Given the description of an element on the screen output the (x, y) to click on. 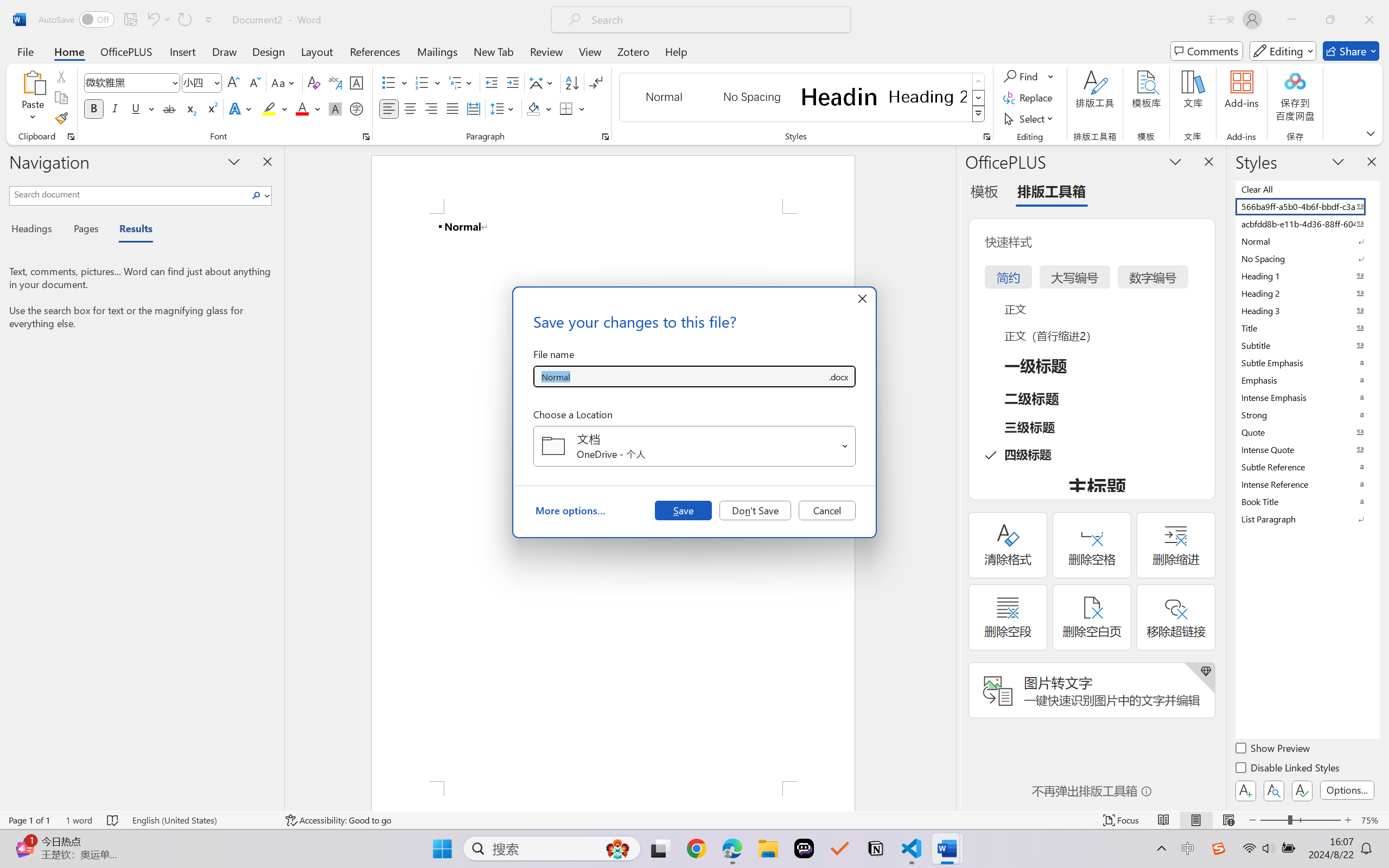
AutomationID: DynamicSearchBoxGleamImage (617, 848)
Row Down (978, 97)
Task Pane Options (1175, 161)
Heading 2 (927, 96)
Paste (33, 81)
Replace... (1029, 97)
Row up (978, 81)
Justify (452, 108)
